Given the description of an element on the screen output the (x, y) to click on. 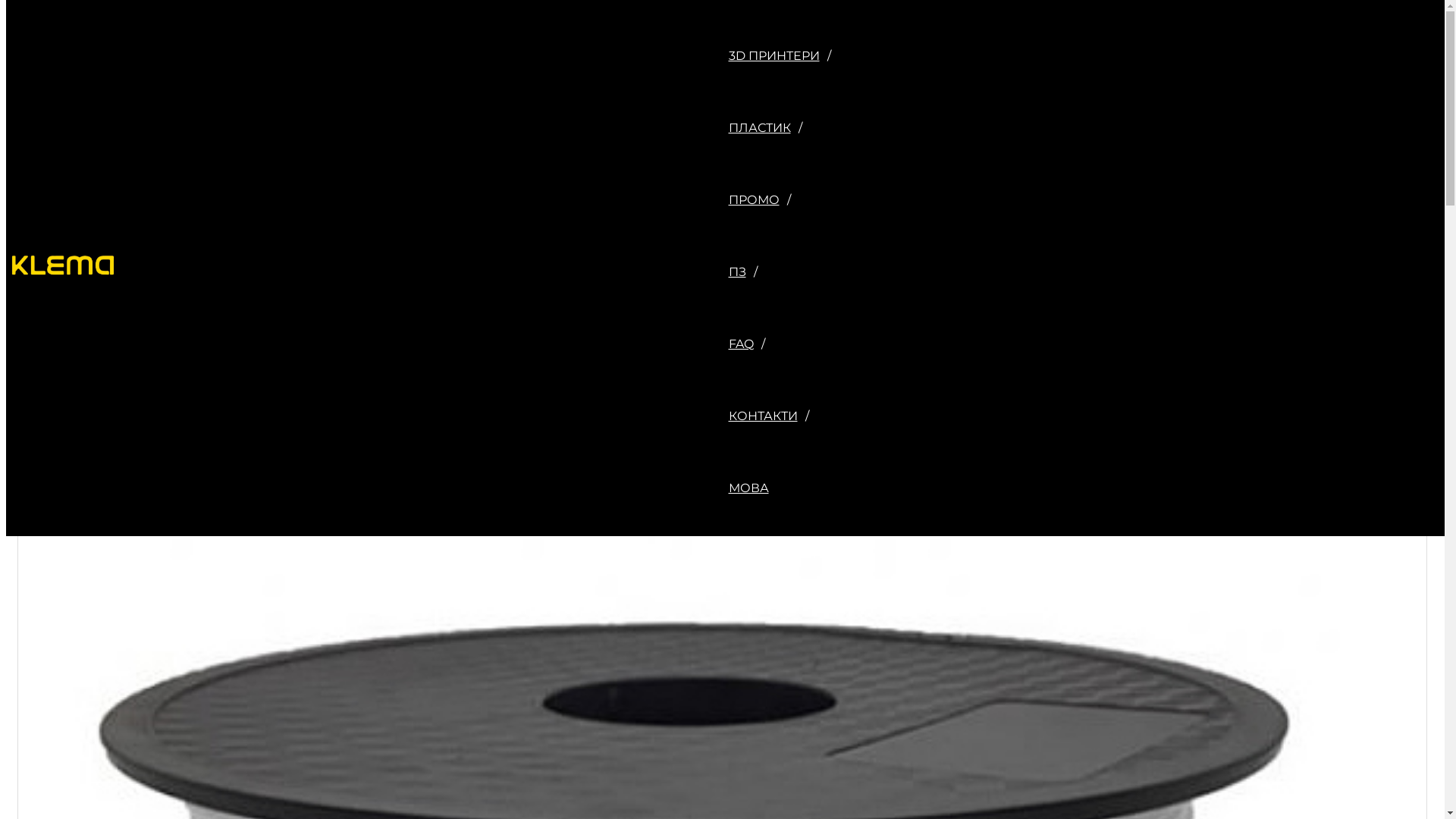
FAQ Element type: text (782, 343)
